Given the description of an element on the screen output the (x, y) to click on. 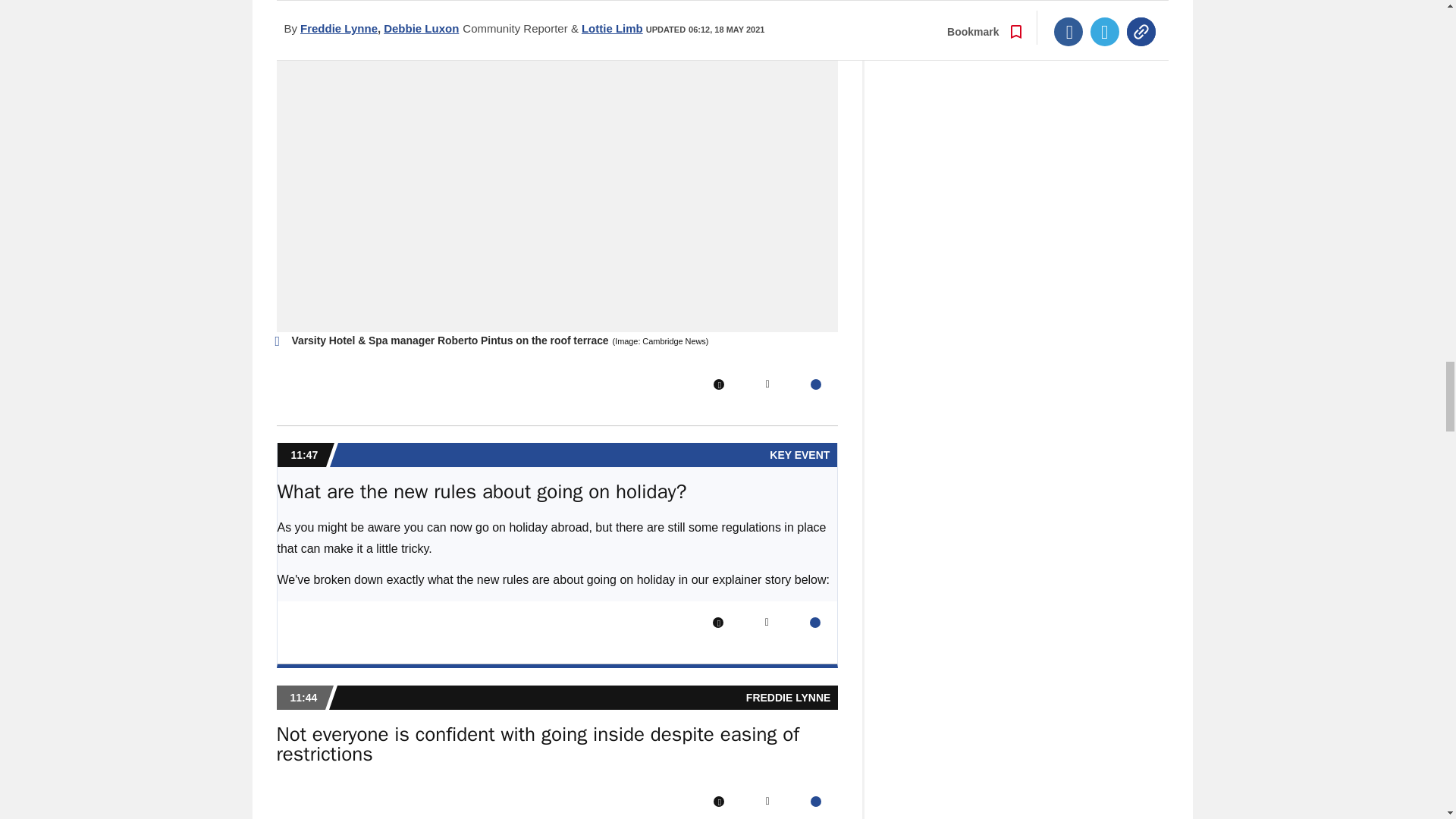
Facebook (718, 384)
Twitter (767, 384)
Facebook (718, 622)
